Given the description of an element on the screen output the (x, y) to click on. 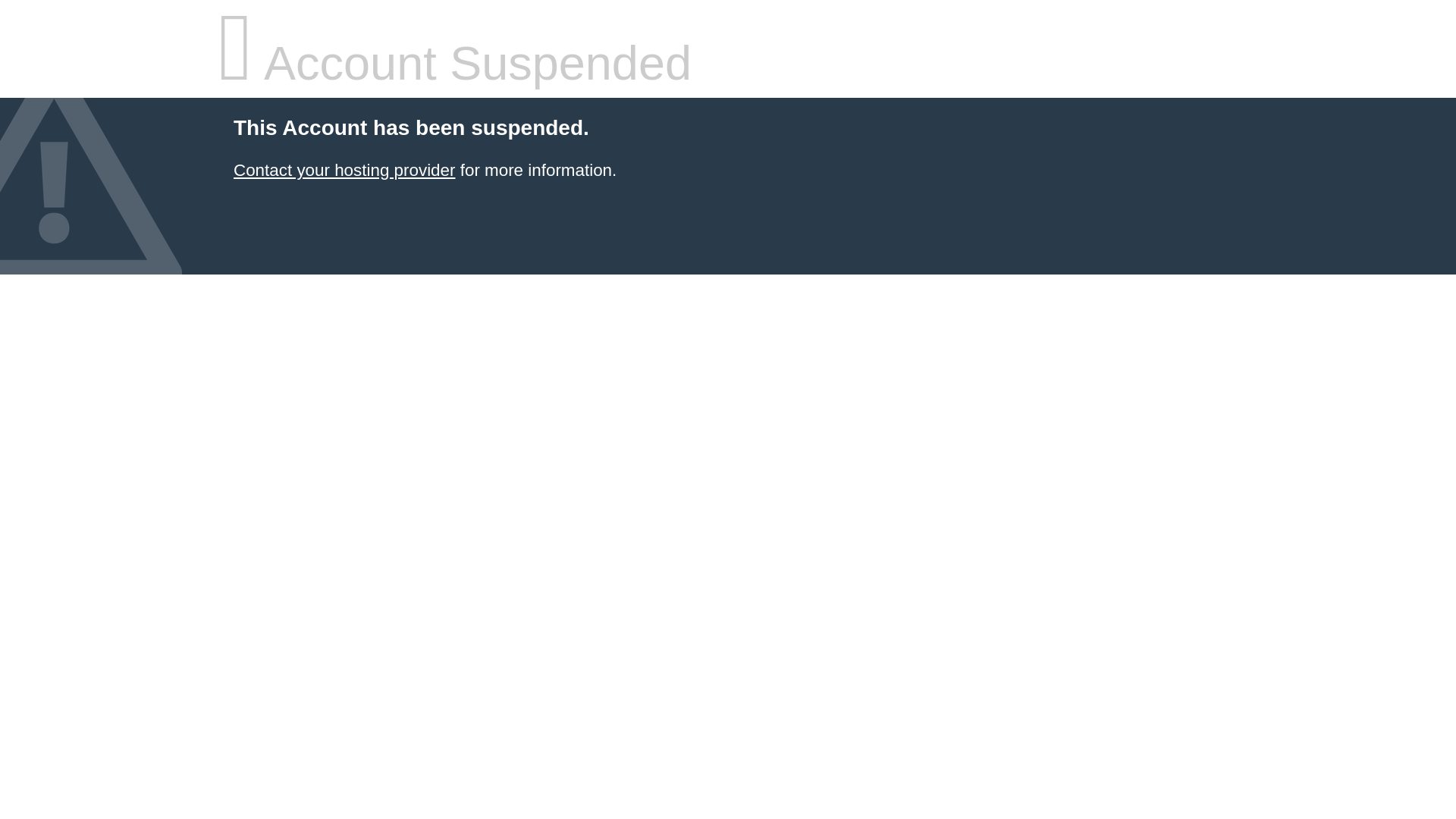
Contact your hosting provider (343, 169)
